Given the description of an element on the screen output the (x, y) to click on. 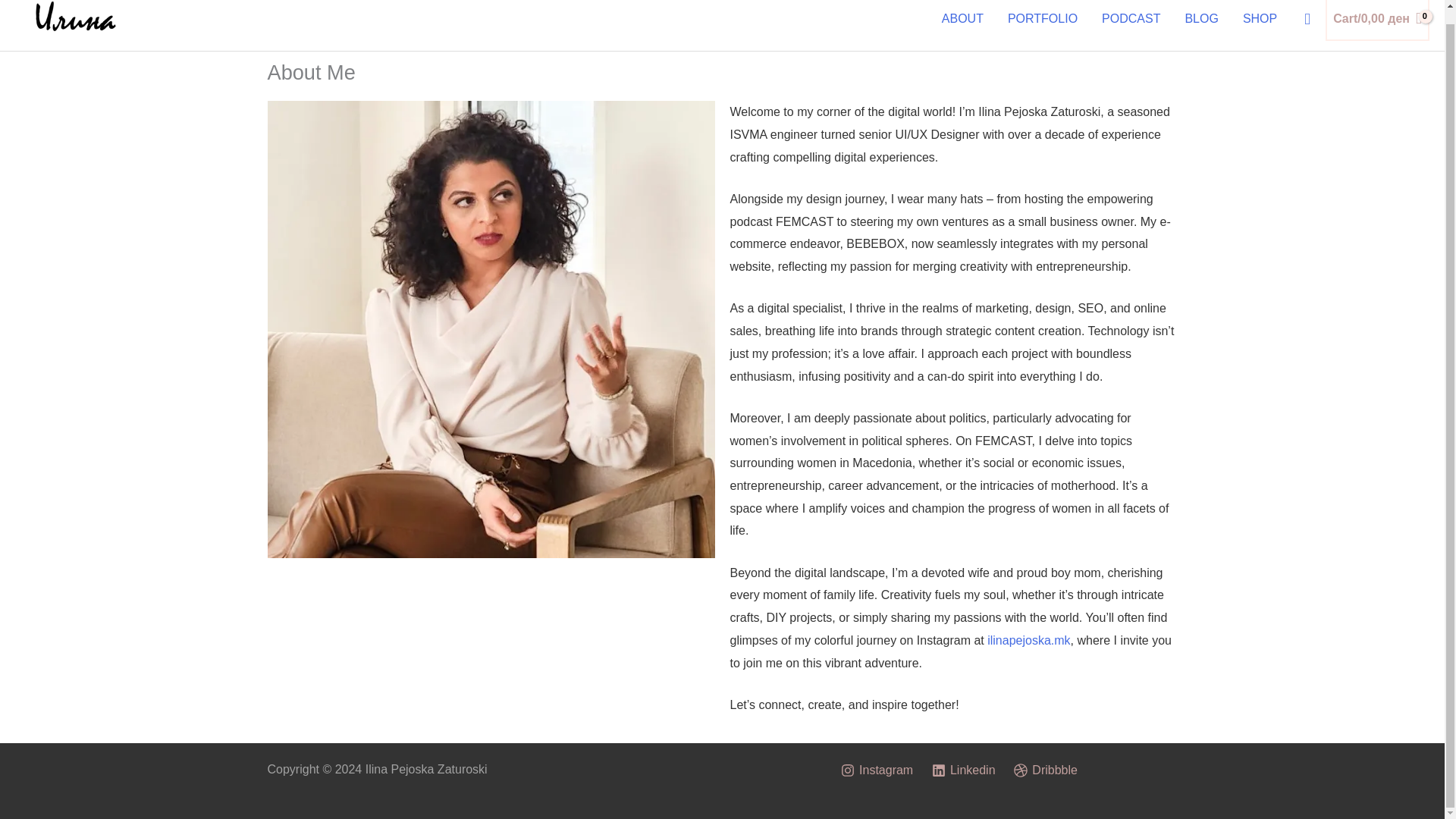
BLOG (1201, 22)
PORTFOLIO (1042, 22)
Linkedin (963, 770)
ABOUT (962, 22)
Instagram (876, 770)
Dribbble (1045, 770)
ilinapejoska.mk (1028, 640)
PODCAST (1130, 22)
SHOP (1259, 22)
